Given the description of an element on the screen output the (x, y) to click on. 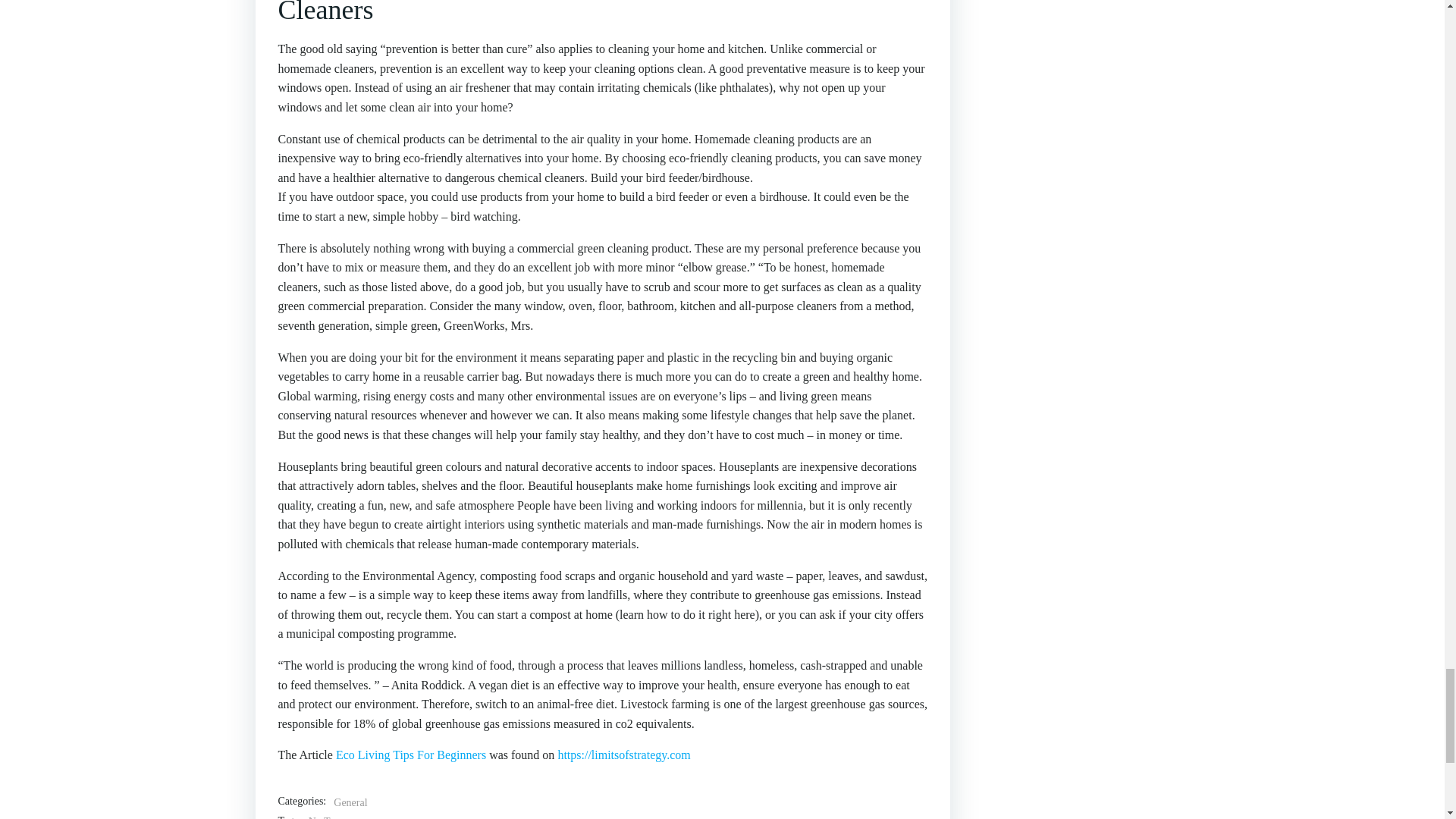
Eco Living Tips For Beginners (411, 754)
General (349, 802)
